Given the description of an element on the screen output the (x, y) to click on. 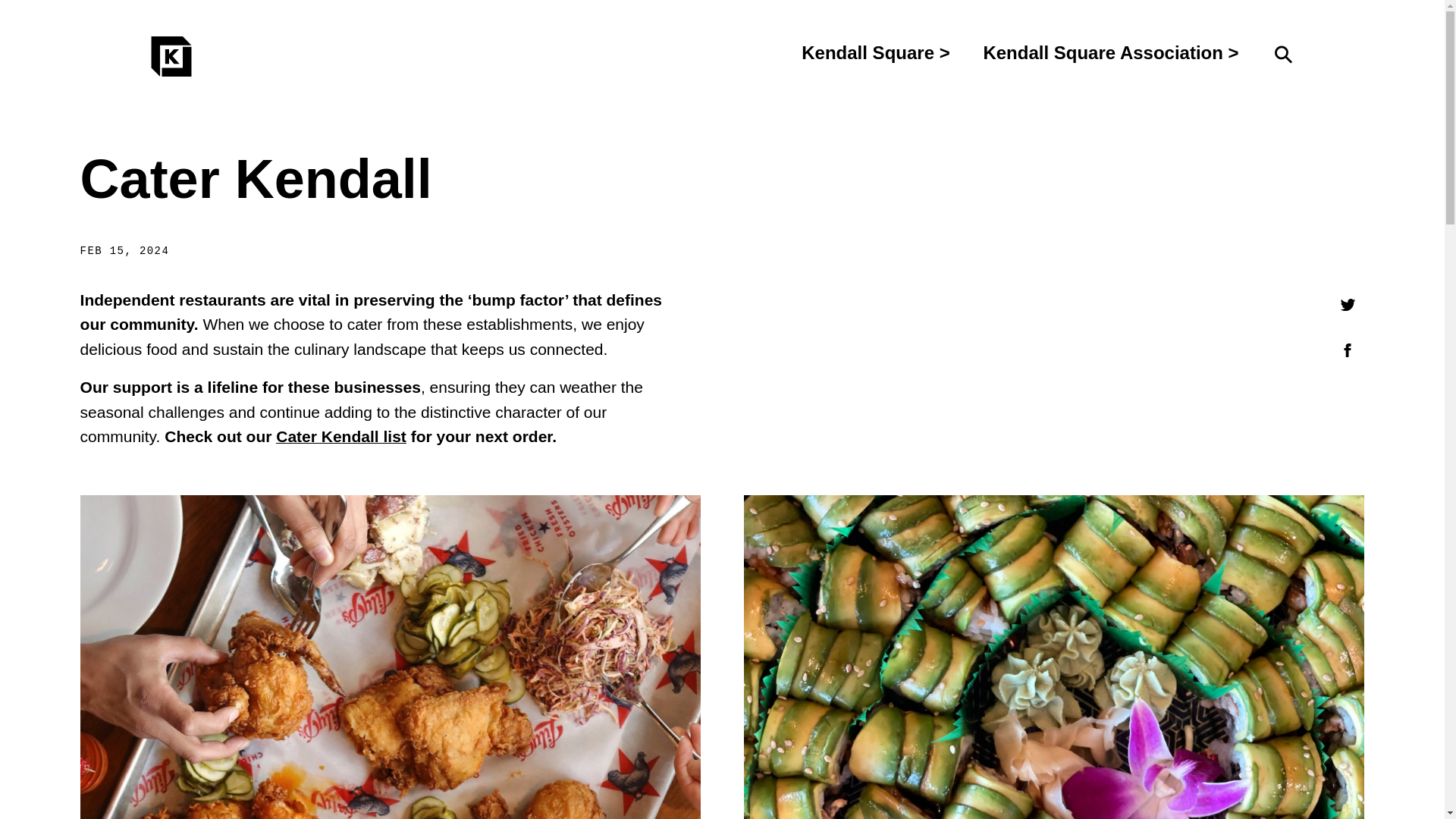
Share on Facebook (1347, 350)
Cater Kendall list (341, 436)
Share on Twitter (1347, 305)
